Given the description of an element on the screen output the (x, y) to click on. 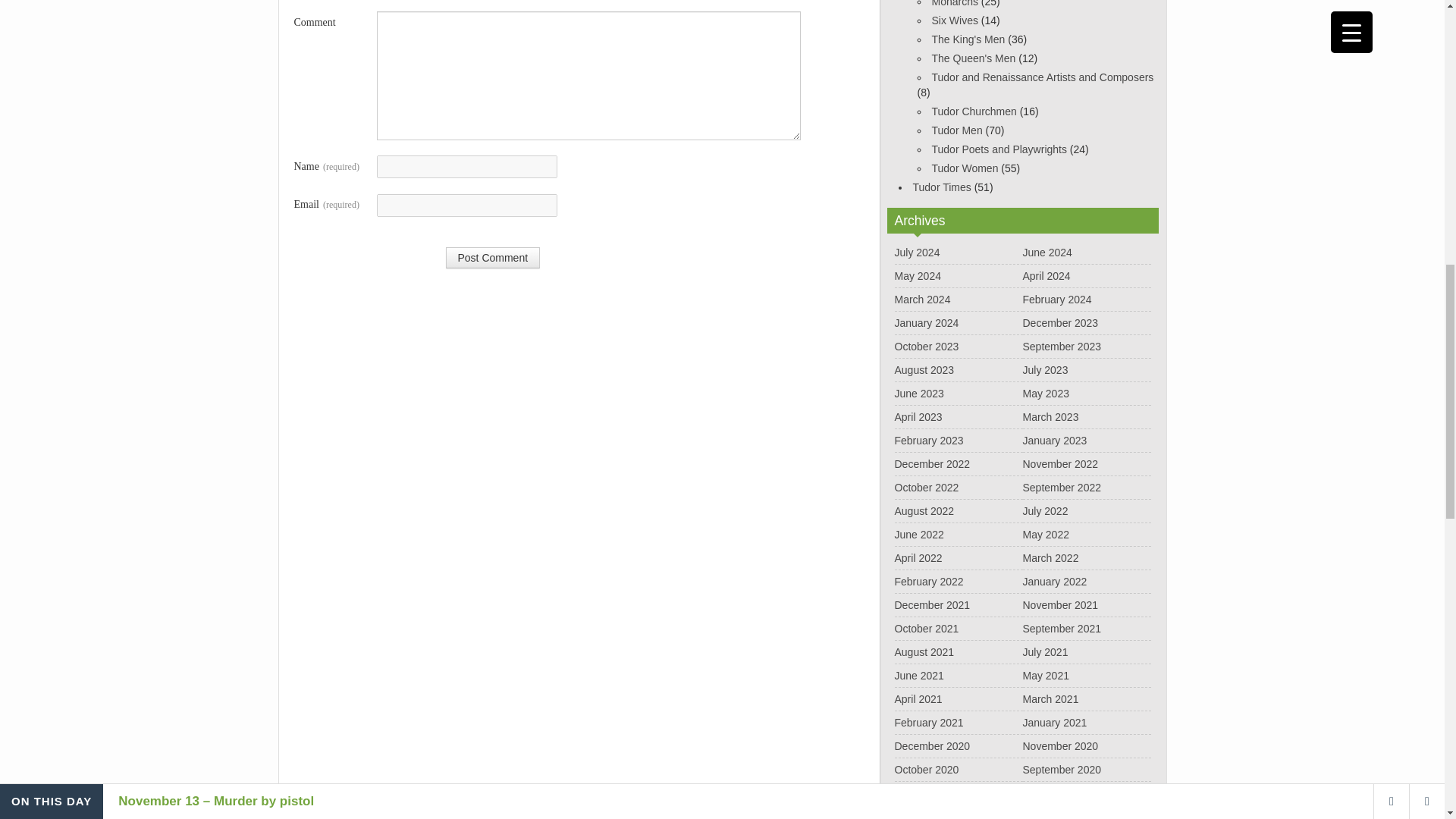
Post Comment (492, 257)
Post Comment (492, 257)
